Given the description of an element on the screen output the (x, y) to click on. 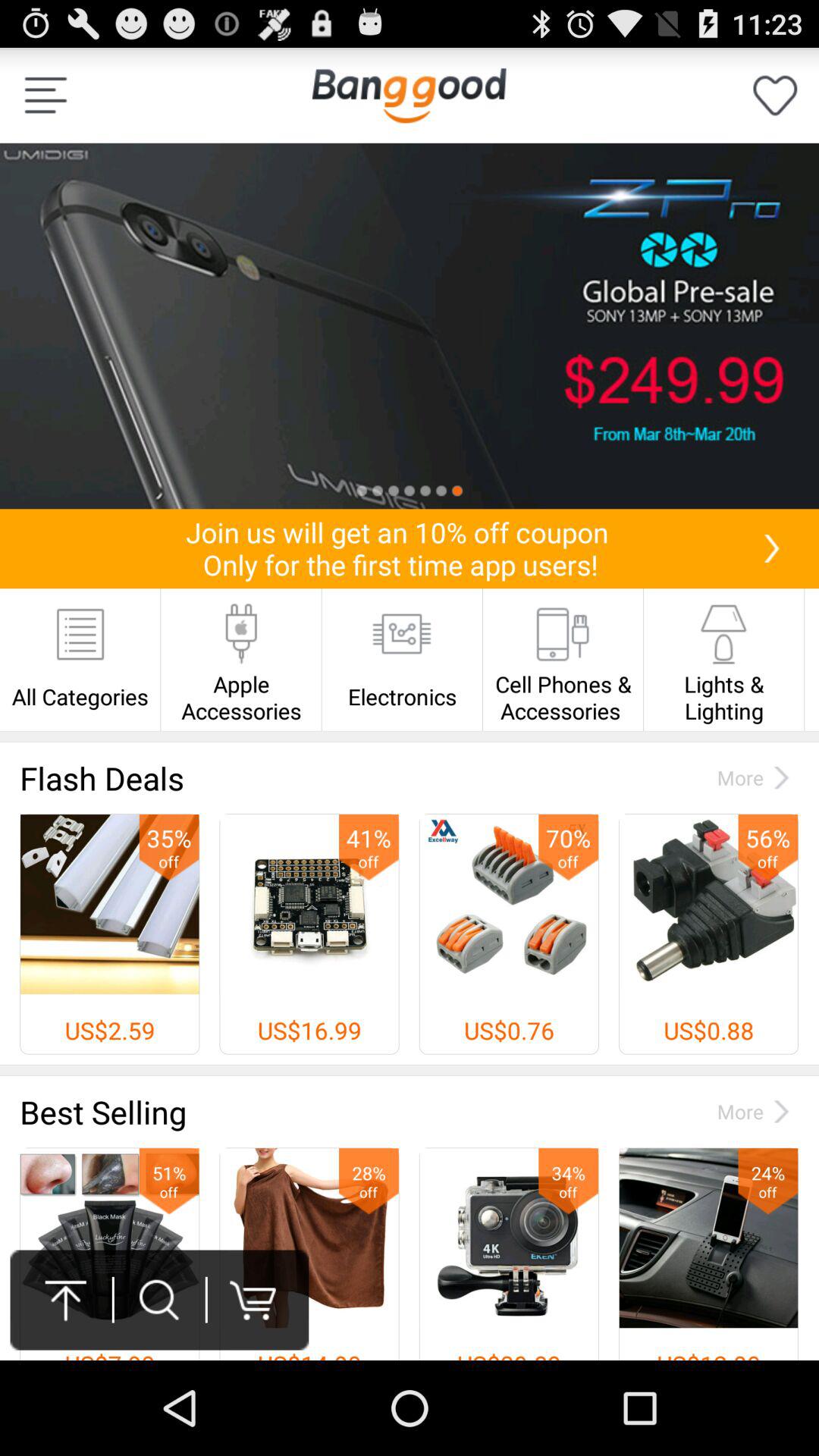
advertisement (409, 326)
